Given the description of an element on the screen output the (x, y) to click on. 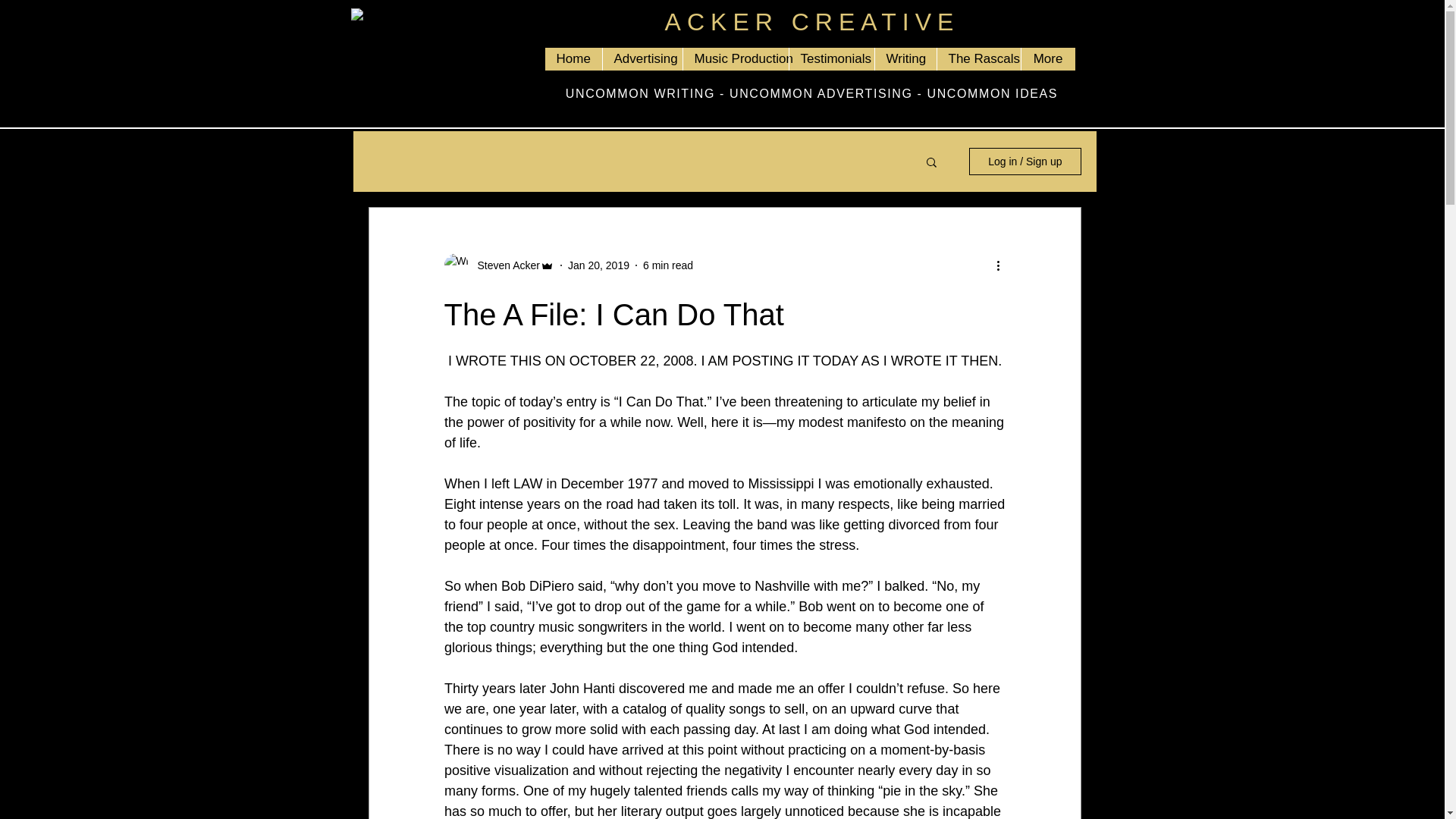
Advertising (642, 58)
Writing (904, 58)
Home (572, 58)
Steven Acker (504, 265)
Music Production (735, 58)
Testimonials (832, 58)
6 min read (668, 265)
Jan 20, 2019 (597, 265)
